Given the description of an element on the screen output the (x, y) to click on. 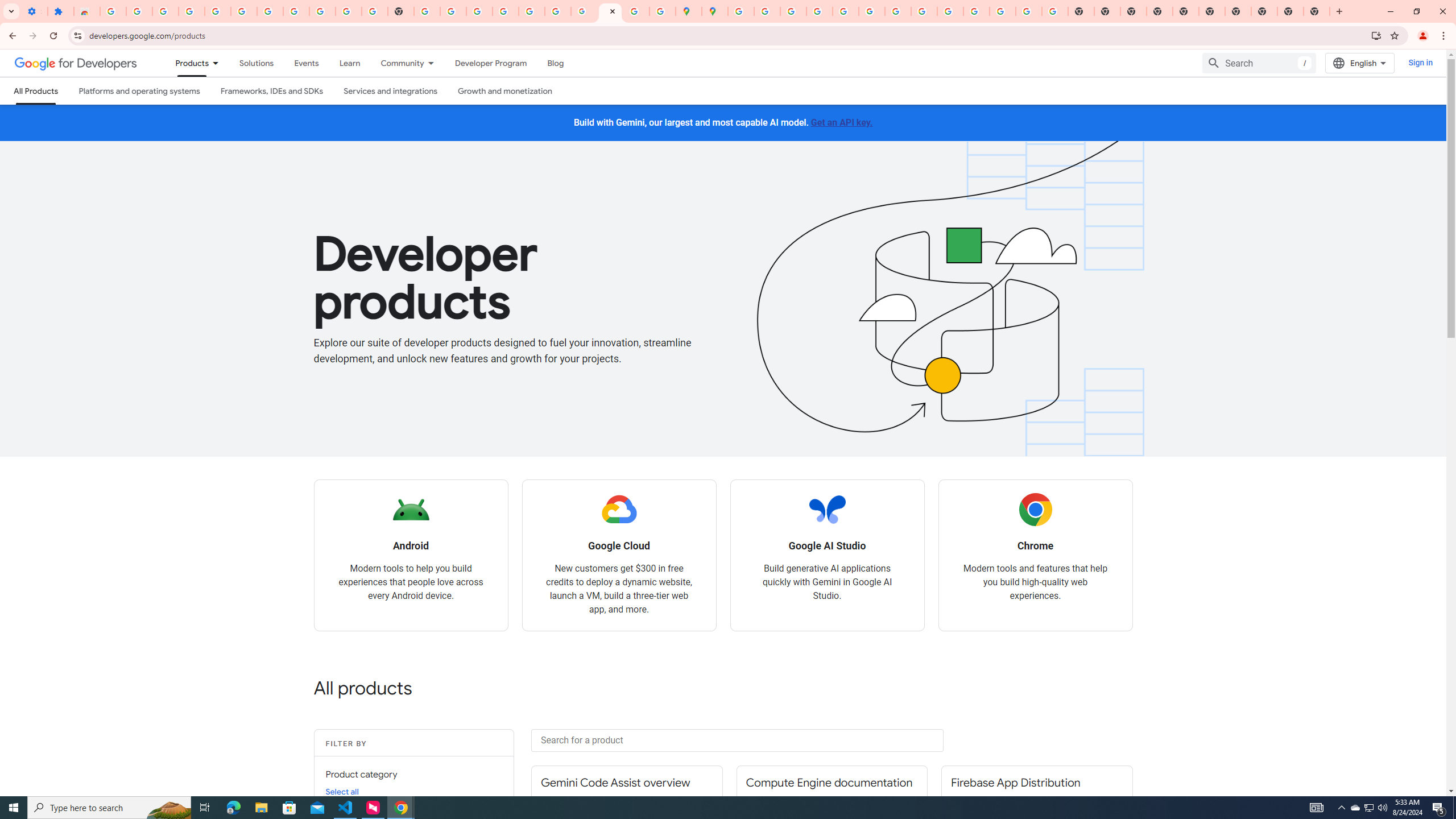
Settings - On startup (34, 11)
New Tab (1159, 11)
Safety in Our Products - Google Safety Center (663, 11)
Sign in - Google Accounts (112, 11)
Install Google Developers (1376, 35)
Privacy Help Center - Policies Help (818, 11)
Google Images (1054, 11)
Privacy Help Center - Policies Help (792, 11)
Sign in - Google Accounts (505, 11)
